Given the description of an element on the screen output the (x, y) to click on. 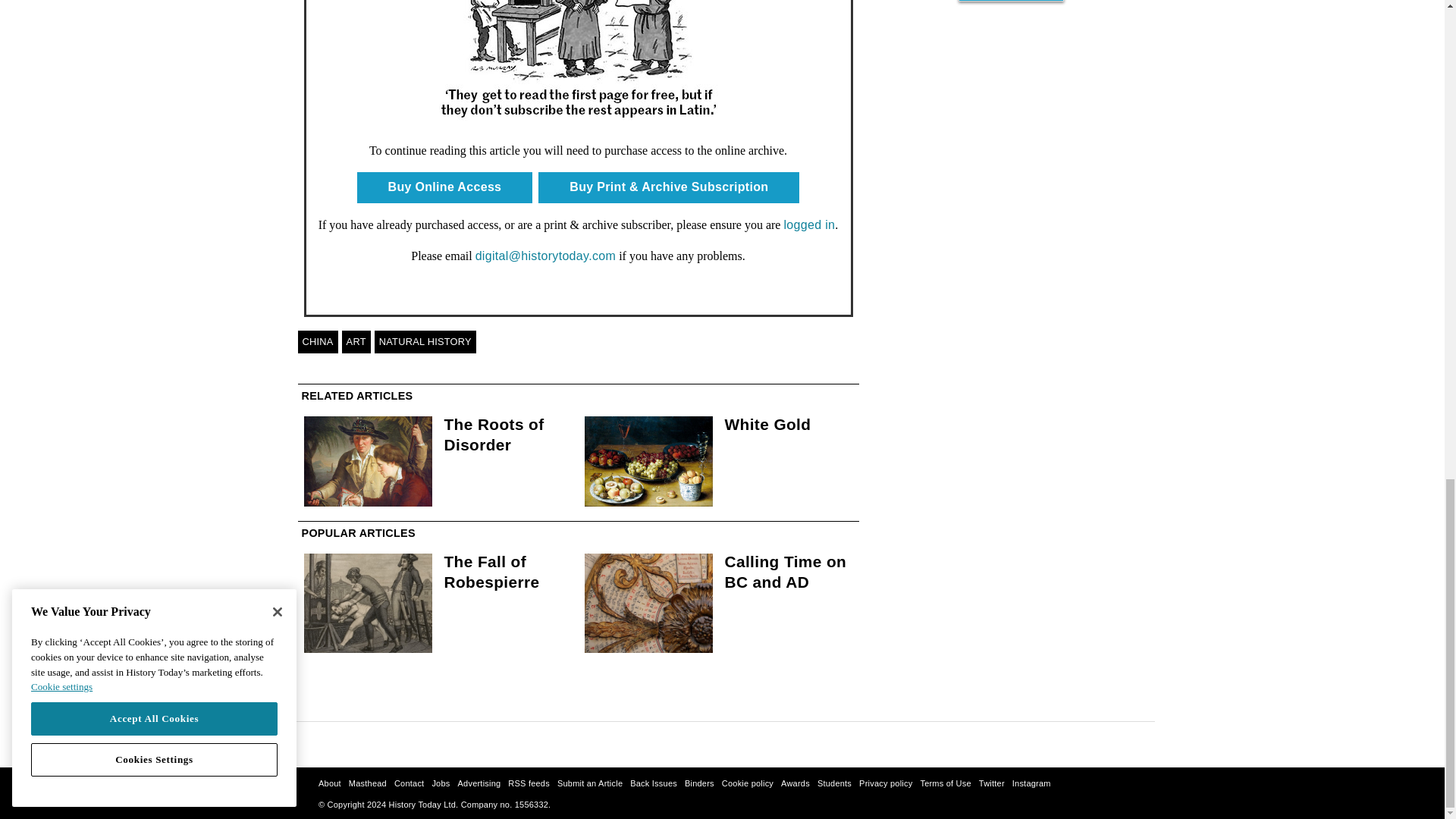
Buy Online Access (444, 186)
logged in (808, 224)
CHINA (317, 341)
